Given the description of an element on the screen output the (x, y) to click on. 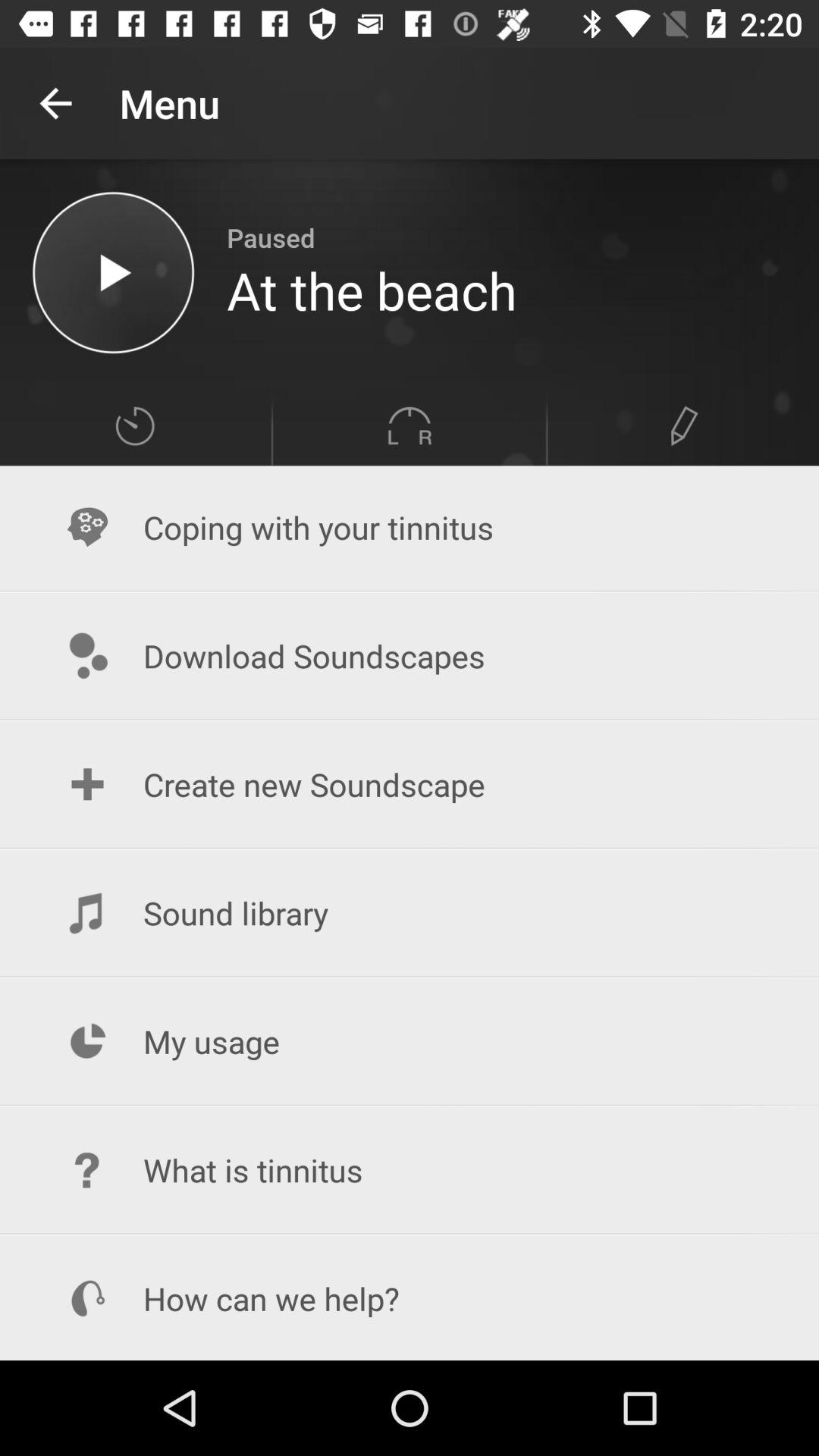
click item below what is tinnitus item (409, 1298)
